Given the description of an element on the screen output the (x, y) to click on. 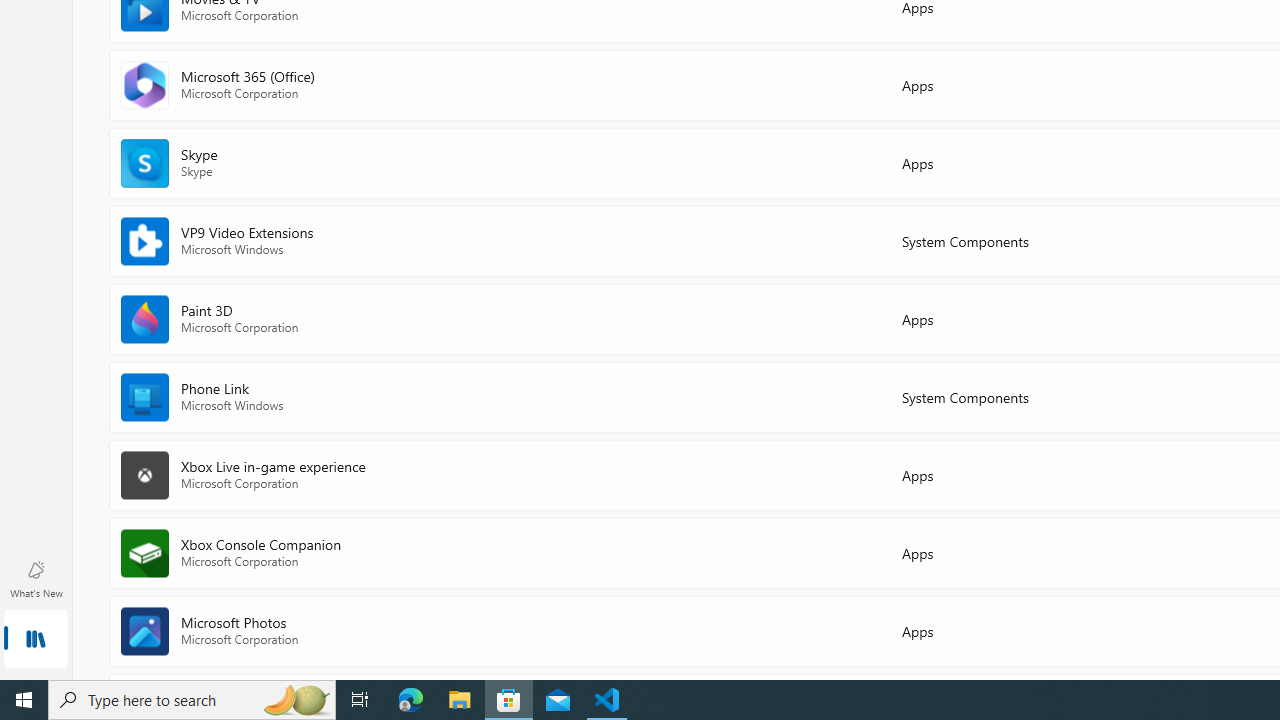
Library (35, 640)
What's New (35, 578)
